Given the description of an element on the screen output the (x, y) to click on. 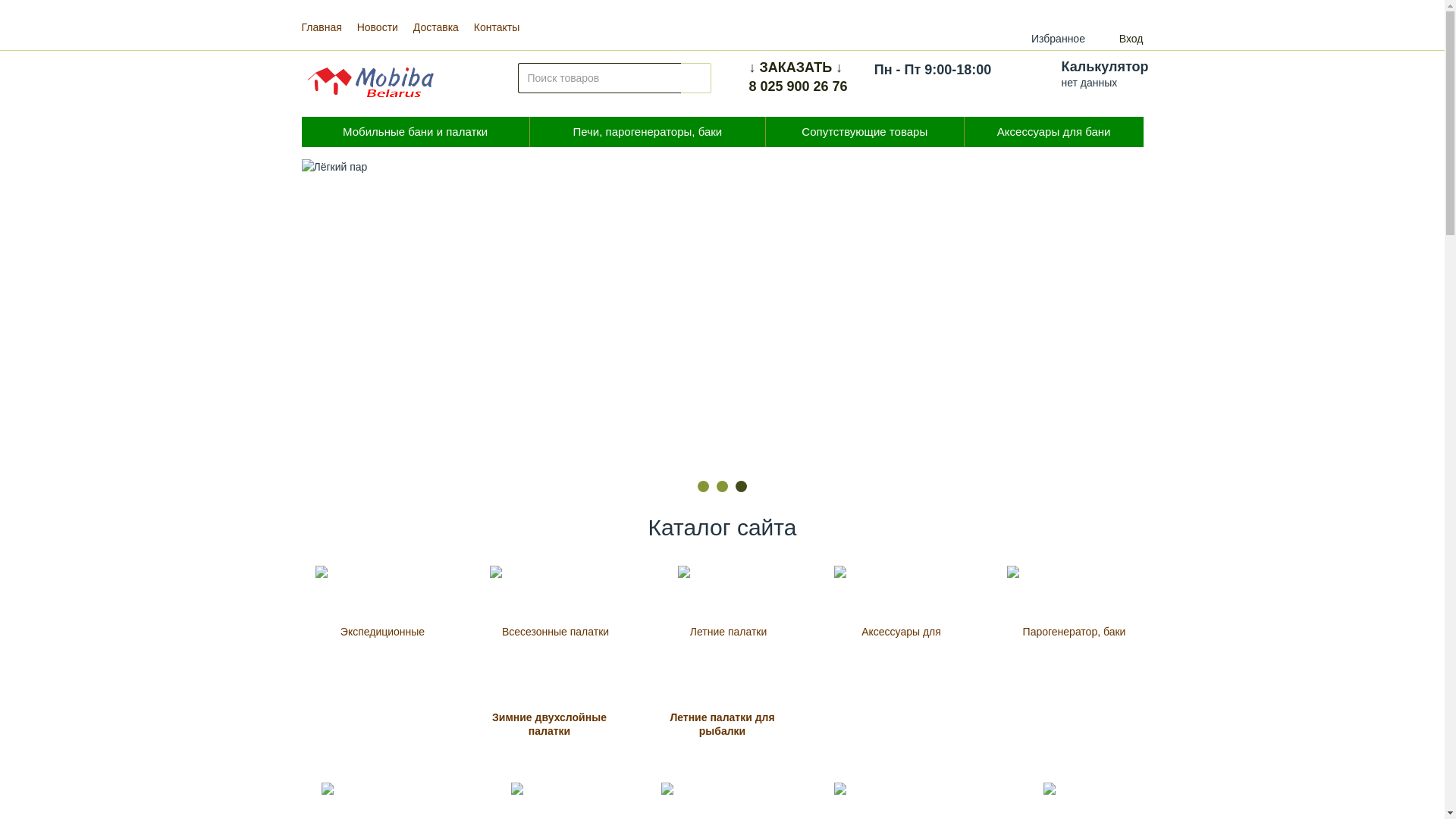
1 Element type: text (703, 486)
8 025 900 26 76 Element type: text (798, 86)
3 Element type: text (740, 486)
2 Element type: text (722, 486)
